Given the description of an element on the screen output the (x, y) to click on. 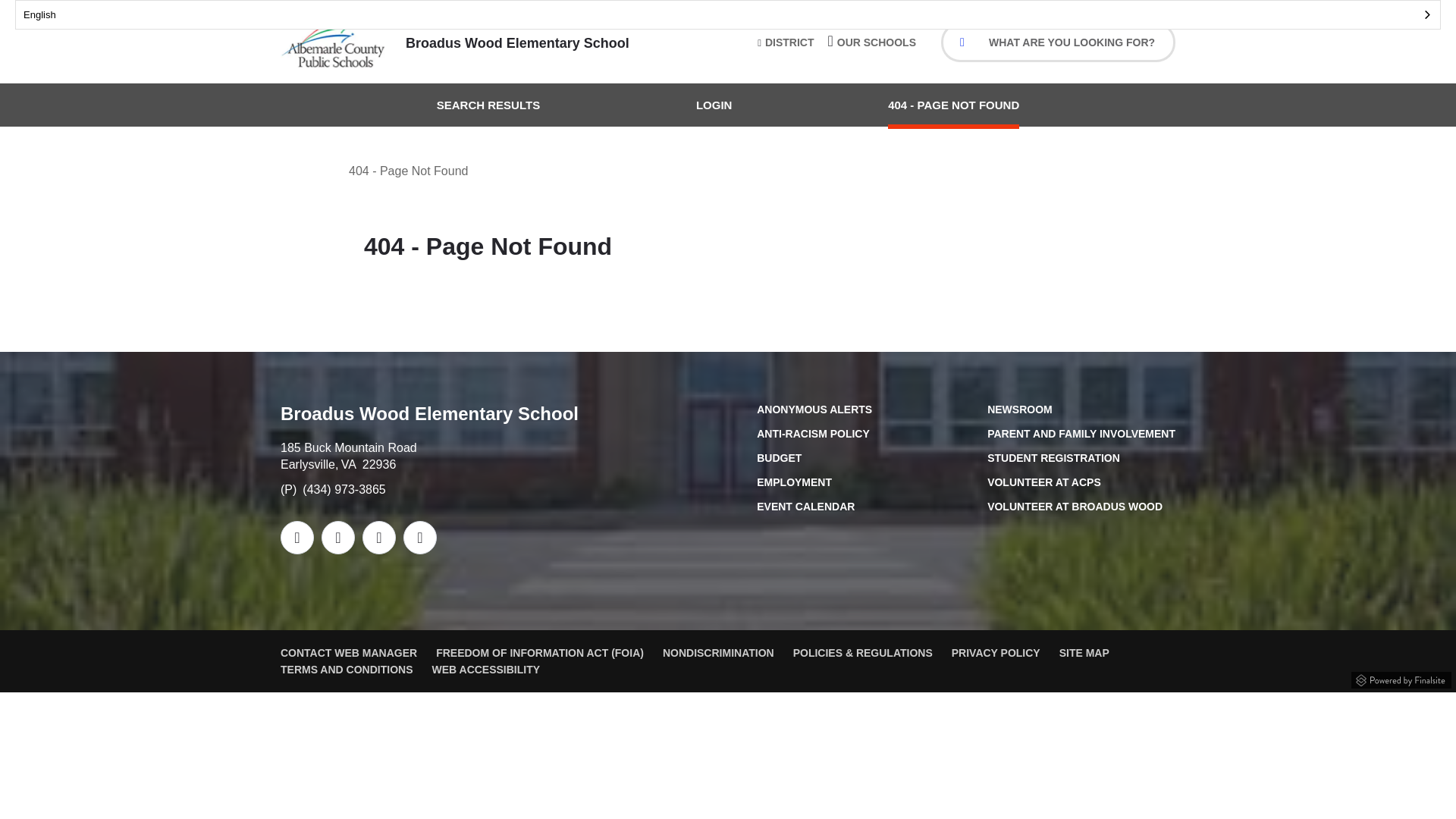
Powered by Finalsite opens in a new window (1401, 677)
